Given the description of an element on the screen output the (x, y) to click on. 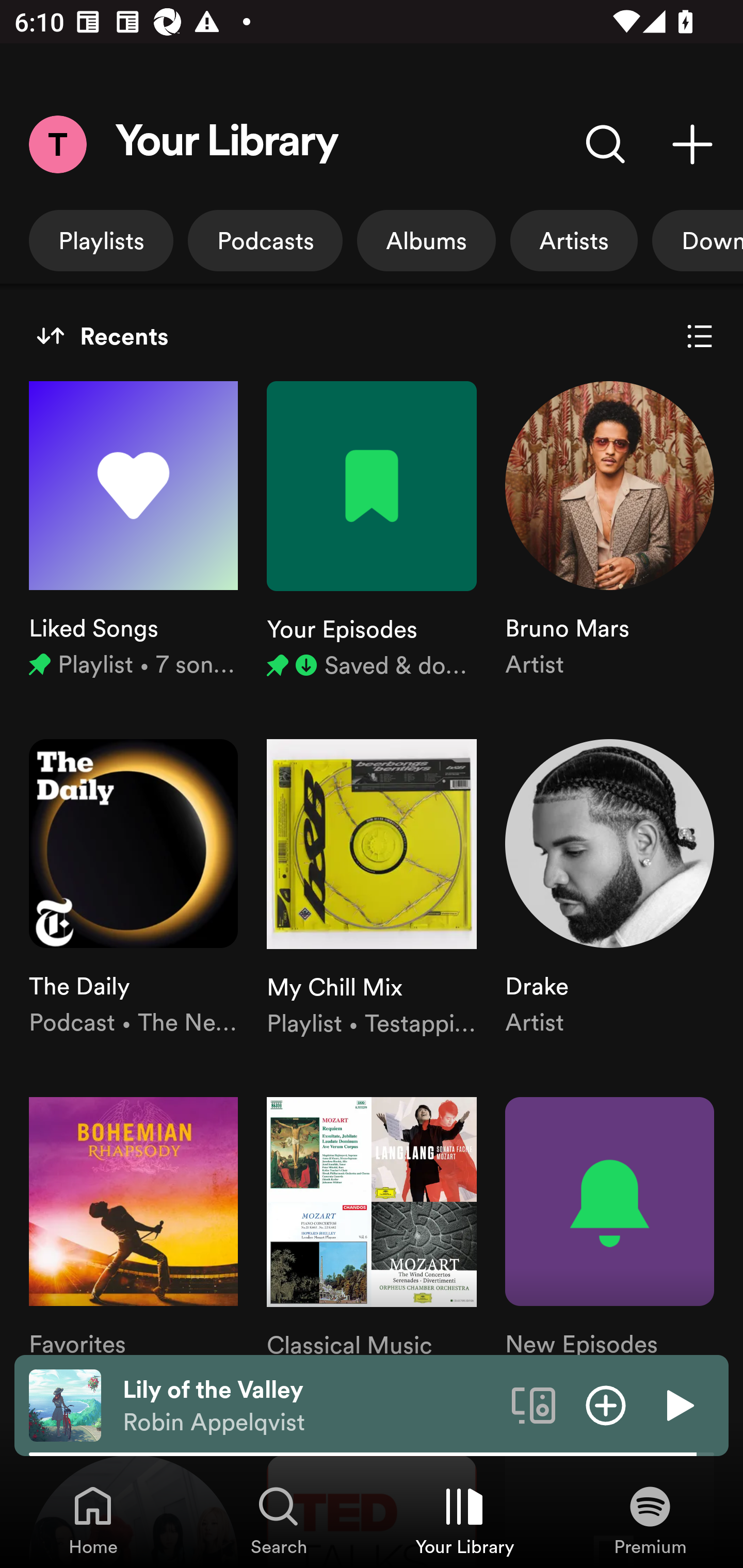
Menu (57, 144)
Search Your Library (605, 144)
Create playlist (692, 144)
Your Library Your Library Heading (226, 144)
Playlists, show only playlists. (100, 240)
Podcasts, show only podcasts. (264, 240)
Albums, show only albums. (426, 240)
Artists, show only artists. (573, 240)
Downloaded, show only downloaded. (697, 240)
Recents (101, 336)
Show List view (699, 336)
Bruno Mars, Artist,  Bruno Mars Artist (609, 531)
Drake, Artist,  Drake Artist (609, 888)
Lily of the Valley Robin Appelqvist (309, 1405)
The cover art of the currently playing track (64, 1404)
Connect to a device. Opens the devices menu (533, 1404)
Add item (605, 1404)
Play (677, 1404)
Home, Tab 1 of 4 Home Home (92, 1519)
Search, Tab 2 of 4 Search Search (278, 1519)
Your Library, Tab 3 of 4 Your Library Your Library (464, 1519)
Premium, Tab 4 of 4 Premium Premium (650, 1519)
